Given the description of an element on the screen output the (x, y) to click on. 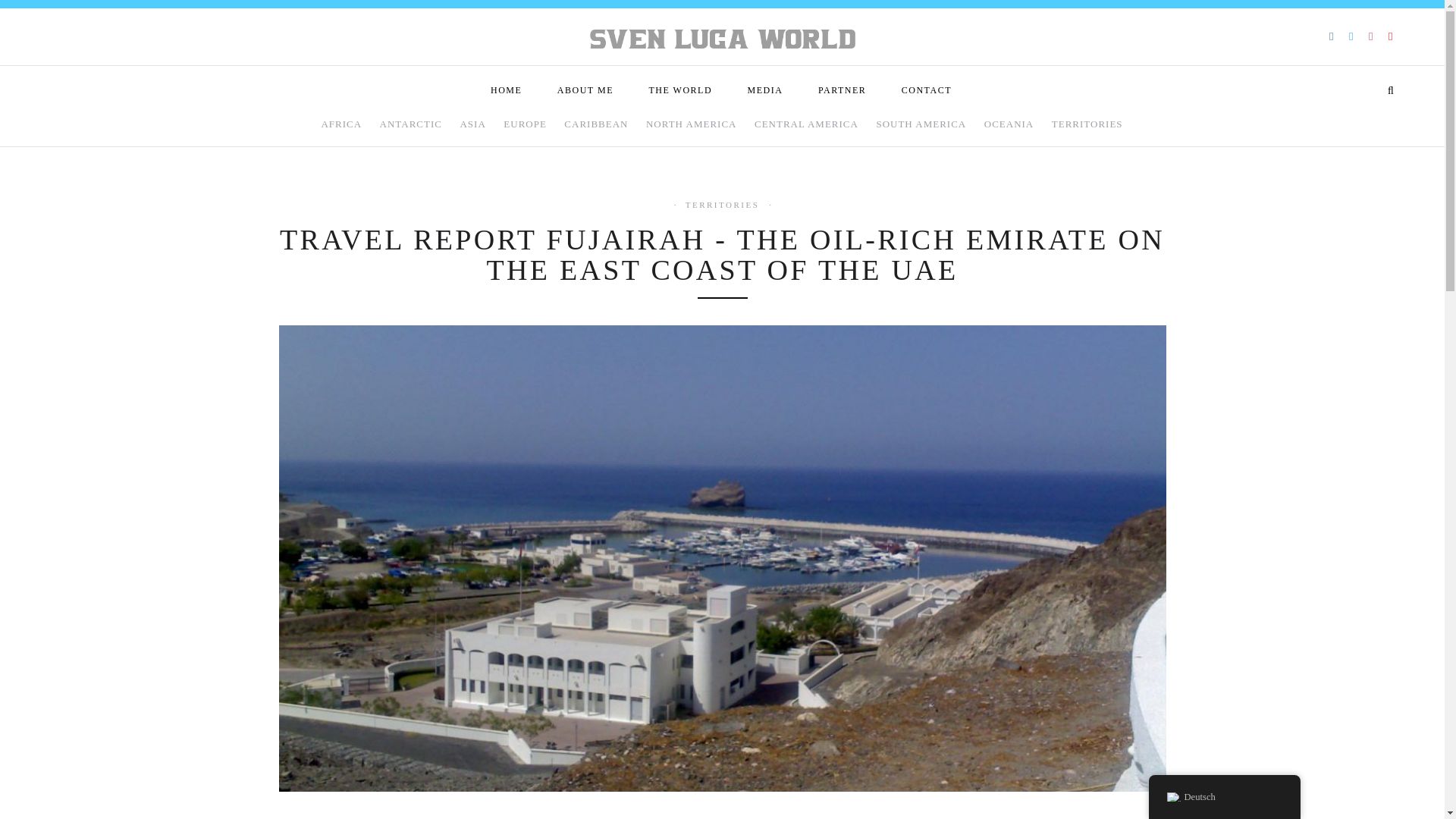
NORTH AMERICA (691, 130)
EUROPE (525, 130)
OCEANIA (1009, 130)
ABOUT ME (585, 90)
ANTARCTIC (410, 130)
CENTRAL AMERICA (806, 130)
ASIA (472, 130)
AFRICA (341, 130)
MEDIA (766, 90)
TERRITORIES (1087, 130)
